Given the description of an element on the screen output the (x, y) to click on. 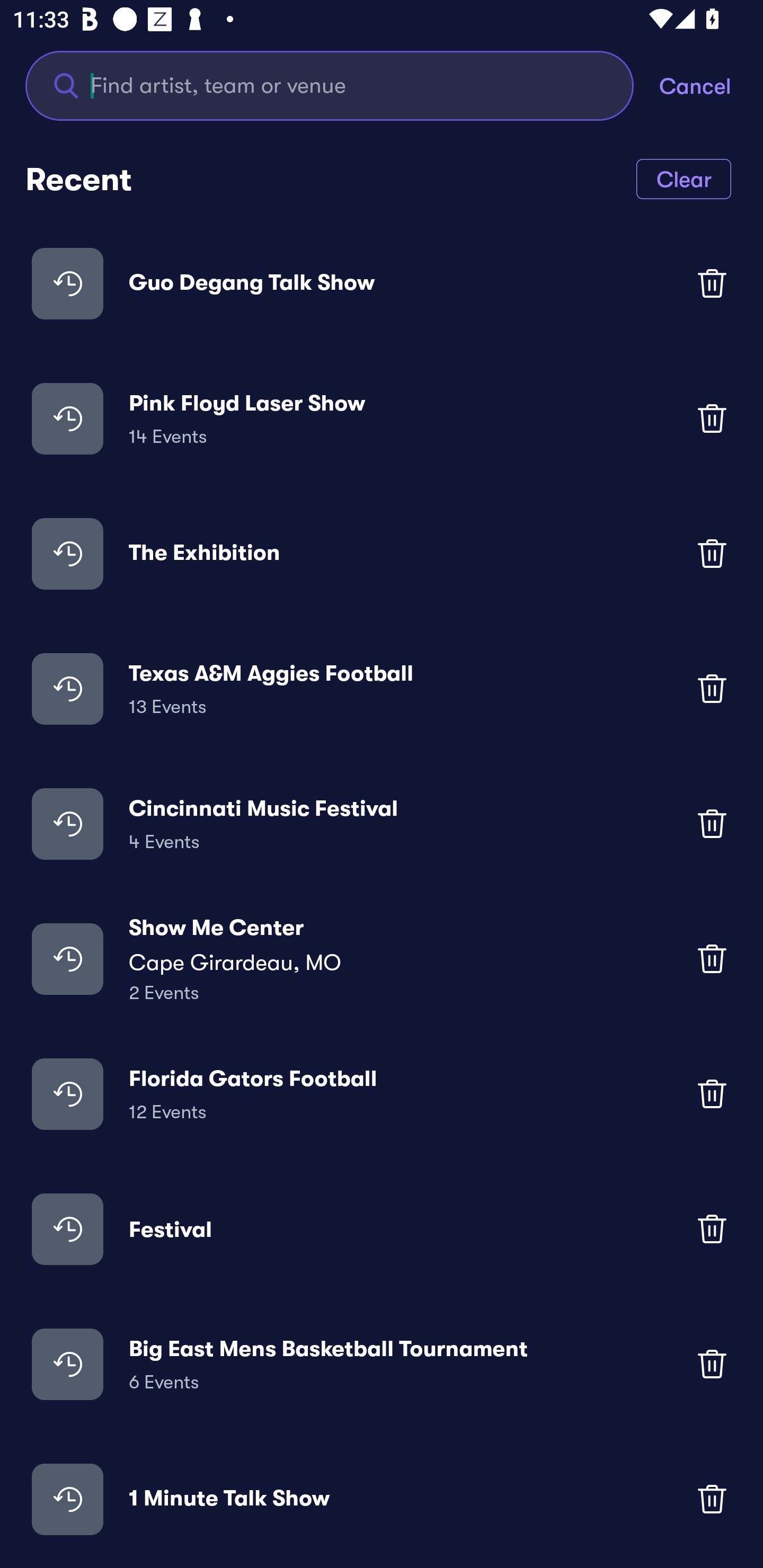
Cancel (711, 85)
Find artist, team or venue Find (329, 85)
Find artist, team or venue Find (341, 85)
Clear (683, 178)
Guo Degang Talk Show (381, 282)
Pink Floyd Laser Show 14 Events (381, 417)
The Exhibition (381, 553)
Texas A&M Aggies Football 13 Events (381, 688)
Cincinnati Music Festival 4 Events (381, 823)
Show Me Center Cape Girardeau, MO 2 Events (381, 958)
Florida Gators Football 12 Events (381, 1093)
Festival (381, 1228)
Big East Mens Basketball Tournament 6 Events (381, 1364)
1 Minute Talk Show (381, 1498)
